Given the description of an element on the screen output the (x, y) to click on. 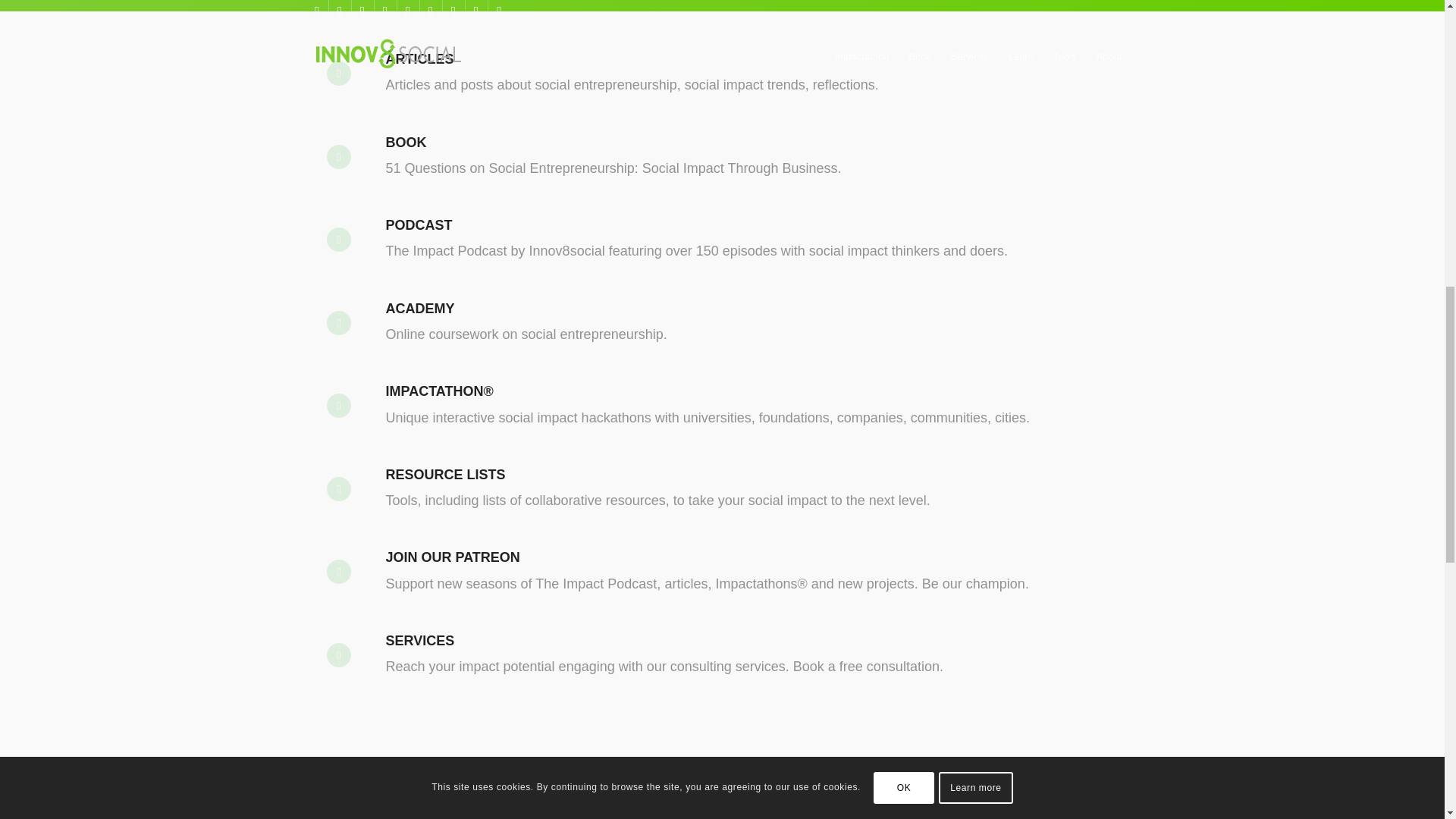
ACADEMY (419, 308)
Podcast (350, 251)
ARTICLES (418, 58)
Podcast (418, 224)
Articles (350, 85)
SERVICES (419, 640)
Next (1098, 815)
Articles (418, 58)
RESOURCE LISTS (445, 474)
BOOK (405, 142)
PODCAST (418, 224)
JOIN OUR PATREON (452, 557)
Previous (346, 815)
Book (405, 142)
Book (350, 168)
